Given the description of an element on the screen output the (x, y) to click on. 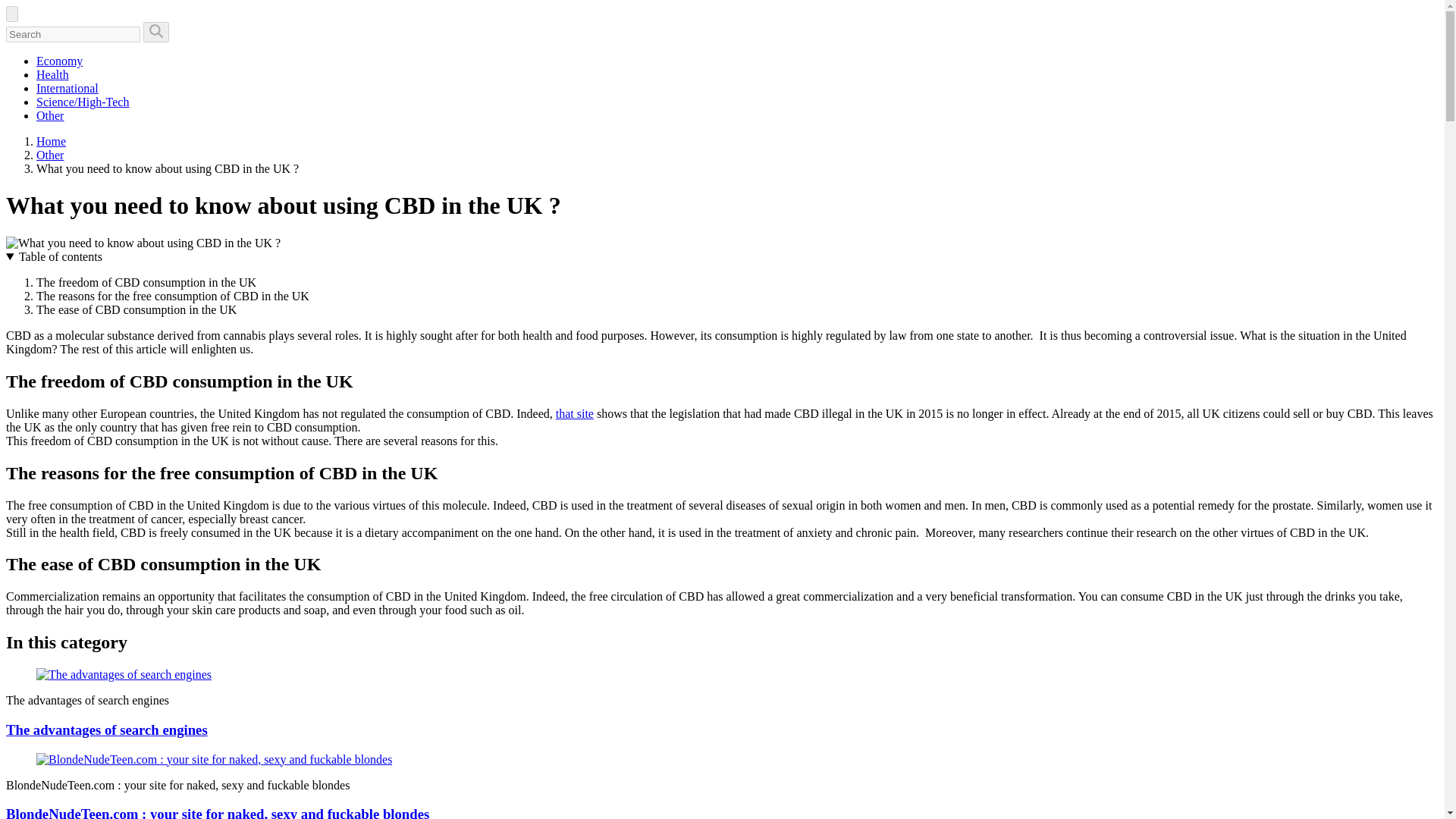
Other (50, 154)
Other (50, 154)
The advantages of search engines (106, 729)
Health (52, 74)
The advantages of search engines (106, 729)
The freedom of CBD consumption in the UK (146, 282)
Home (50, 141)
The advantages of search engines (123, 674)
